Given the description of an element on the screen output the (x, y) to click on. 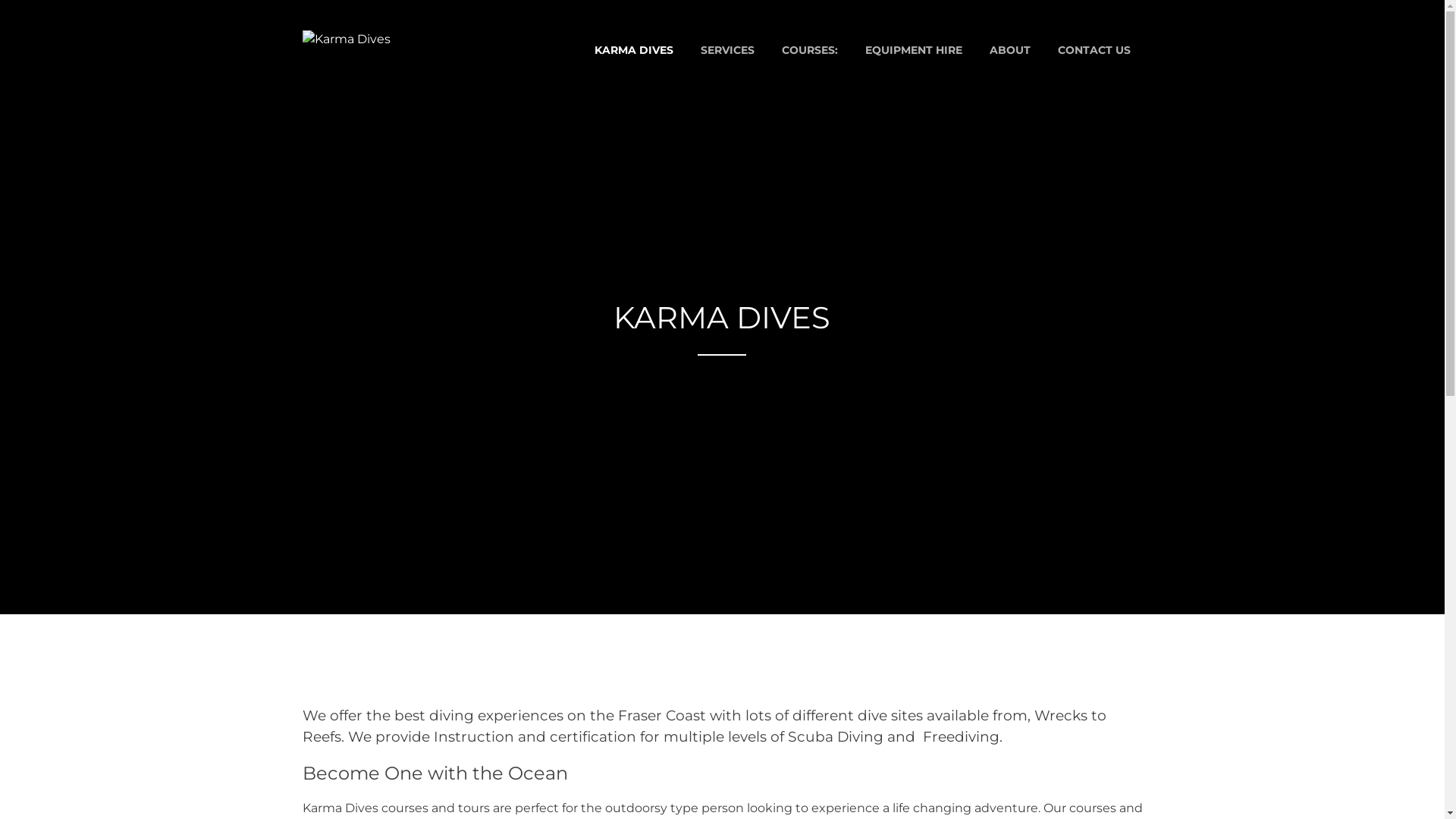
COURSES: Element type: text (808, 50)
ABOUT Element type: text (1008, 50)
KARMA DIVES Element type: text (349, 80)
CONTACT US Element type: text (1093, 50)
SERVICES Element type: text (727, 50)
EQUIPMENT HIRE Element type: text (912, 50)
KARMA DIVES Element type: text (633, 50)
